Given the description of an element on the screen output the (x, y) to click on. 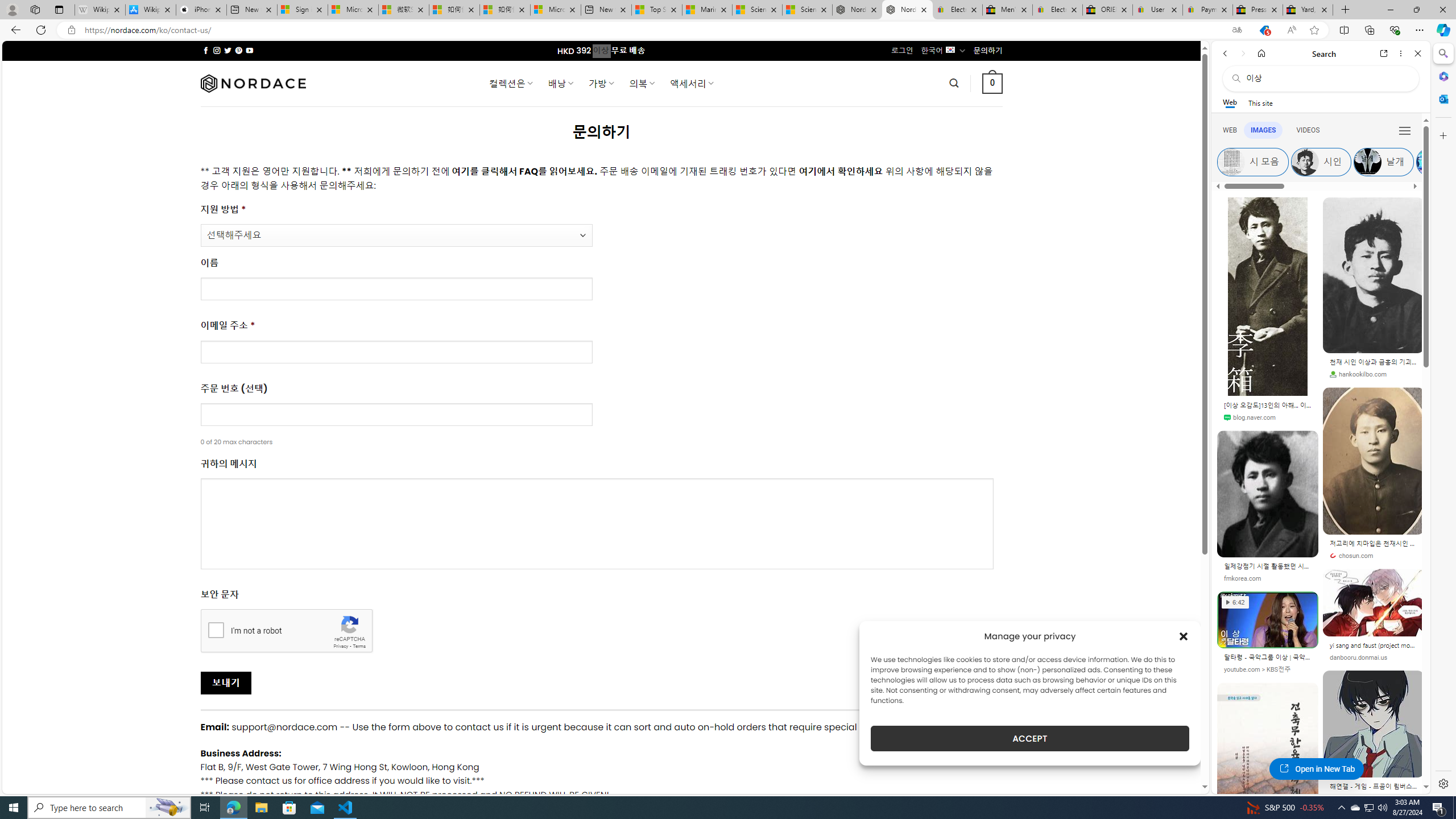
WEB (1230, 130)
